Given the description of an element on the screen output the (x, y) to click on. 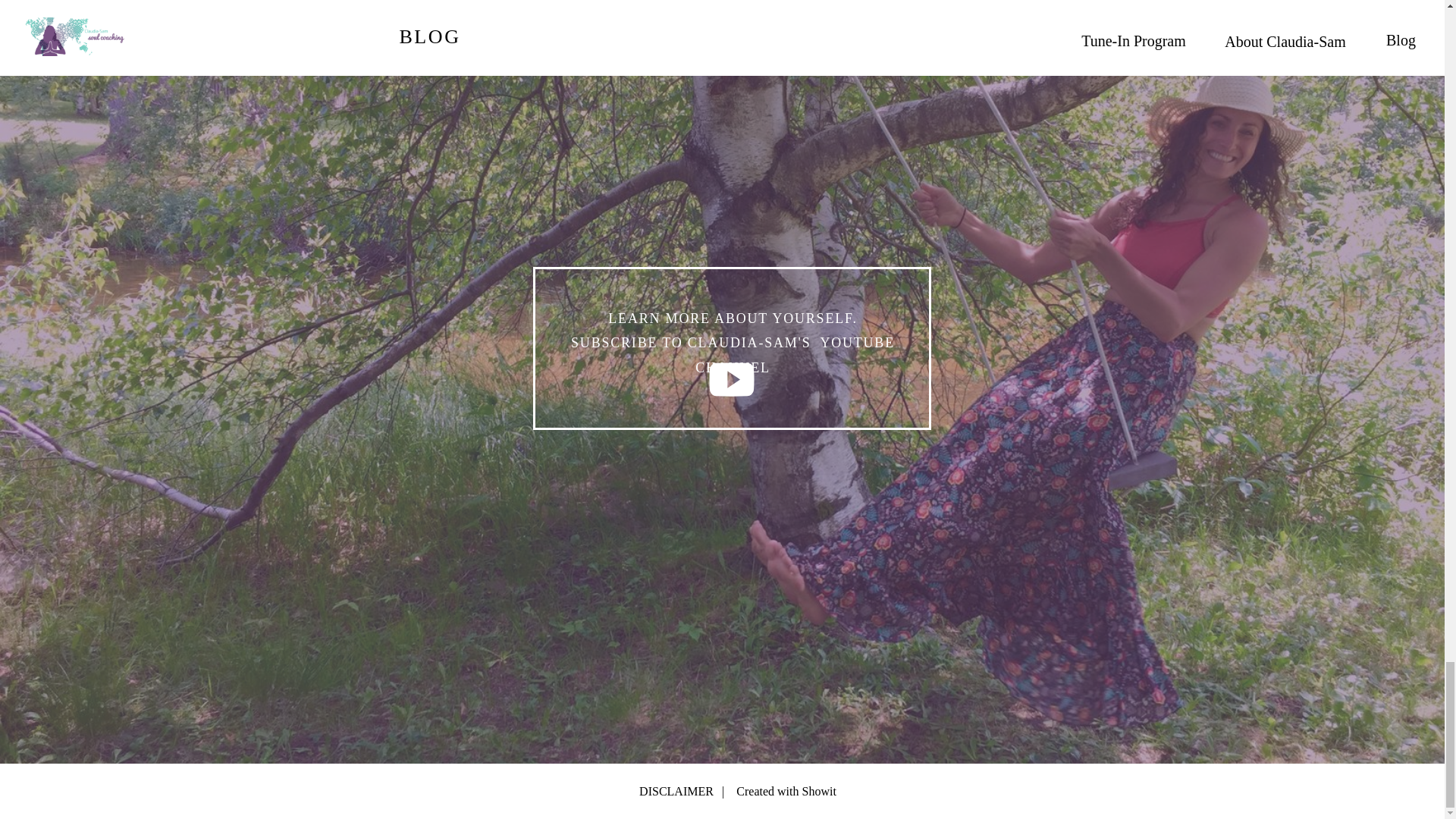
DISCLAIMER (626, 791)
